Given the description of an element on the screen output the (x, y) to click on. 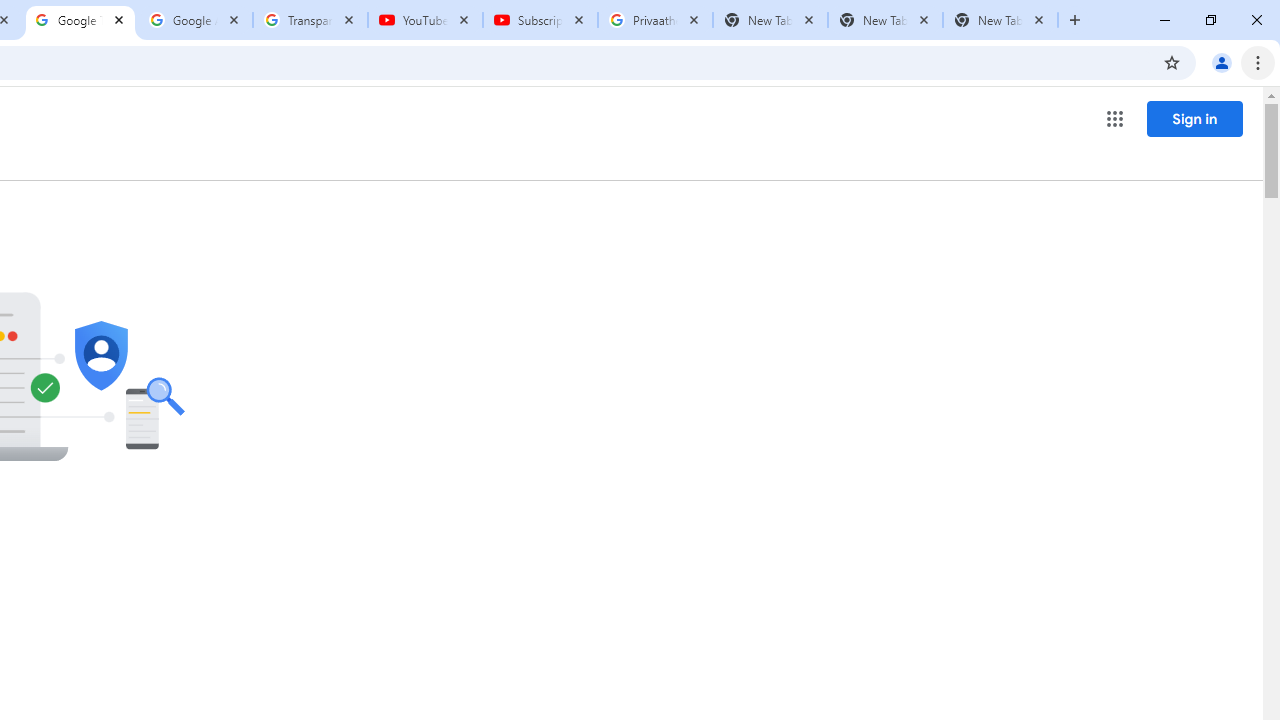
New Tab (1000, 20)
